Given the description of an element on the screen output the (x, y) to click on. 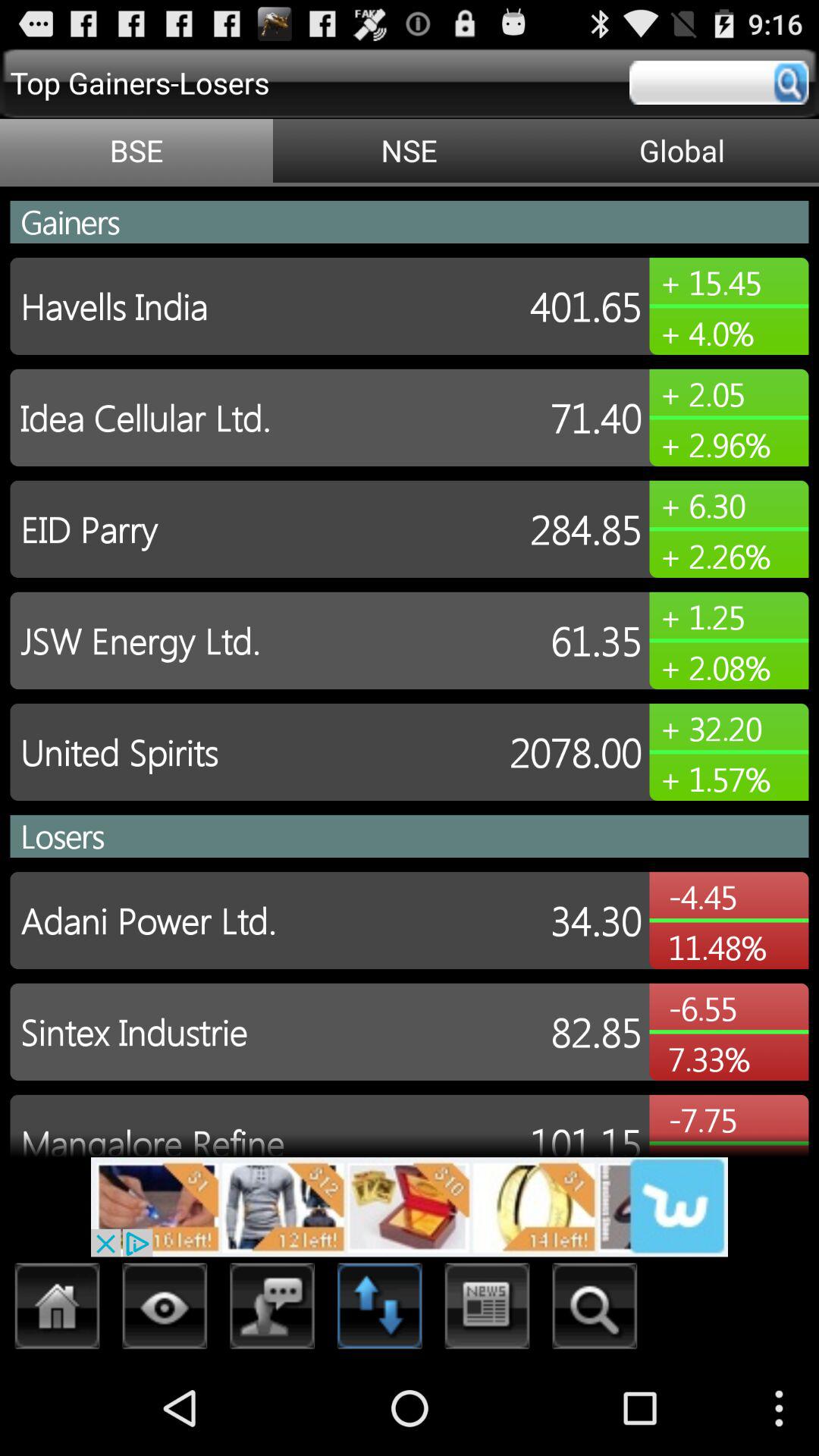
advertisement (409, 1206)
